Given the description of an element on the screen output the (x, y) to click on. 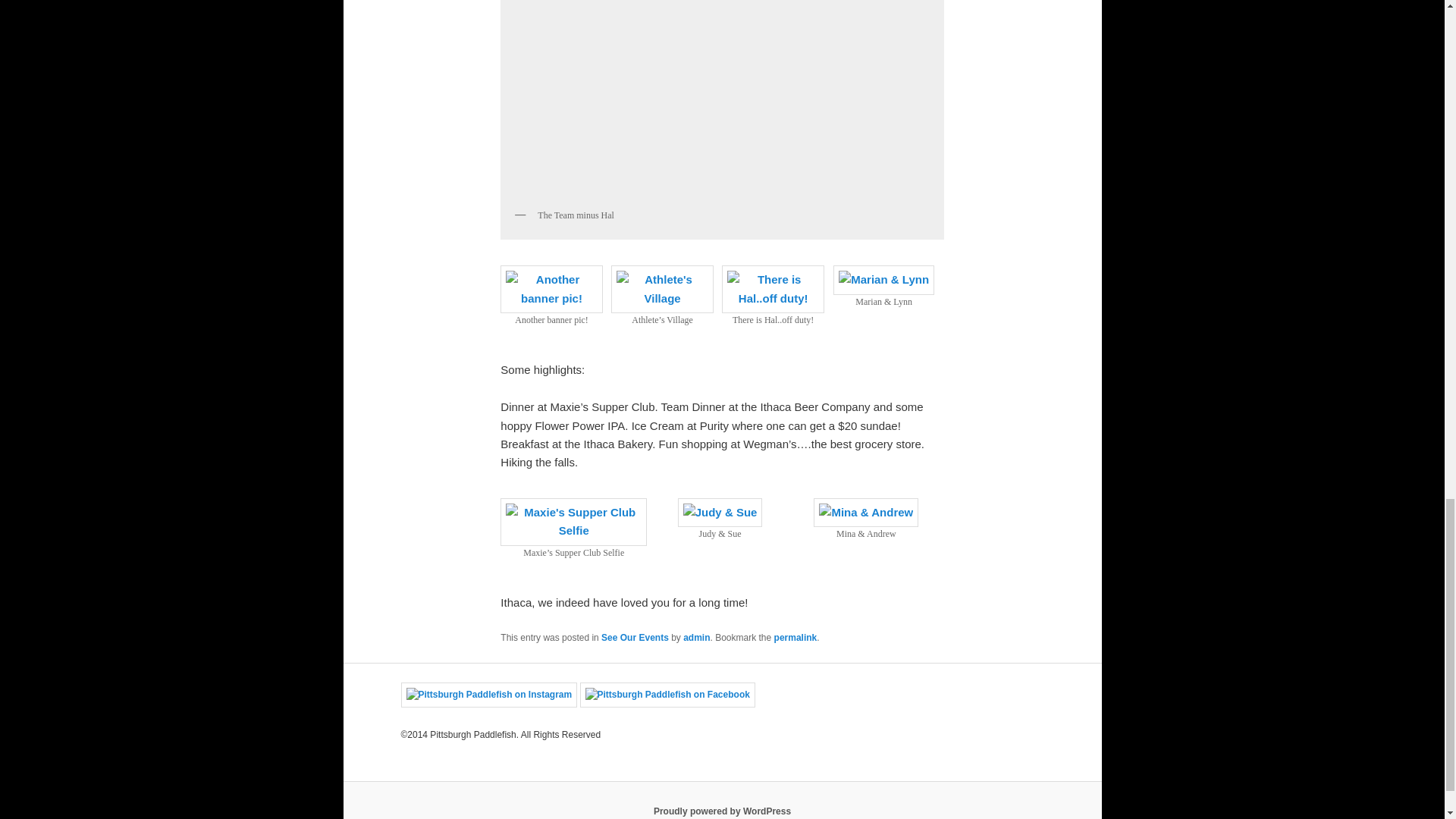
Semantic Personal Publishing Platform (721, 810)
See Our Events (634, 637)
admin (696, 637)
permalink (795, 637)
